Given the description of an element on the screen output the (x, y) to click on. 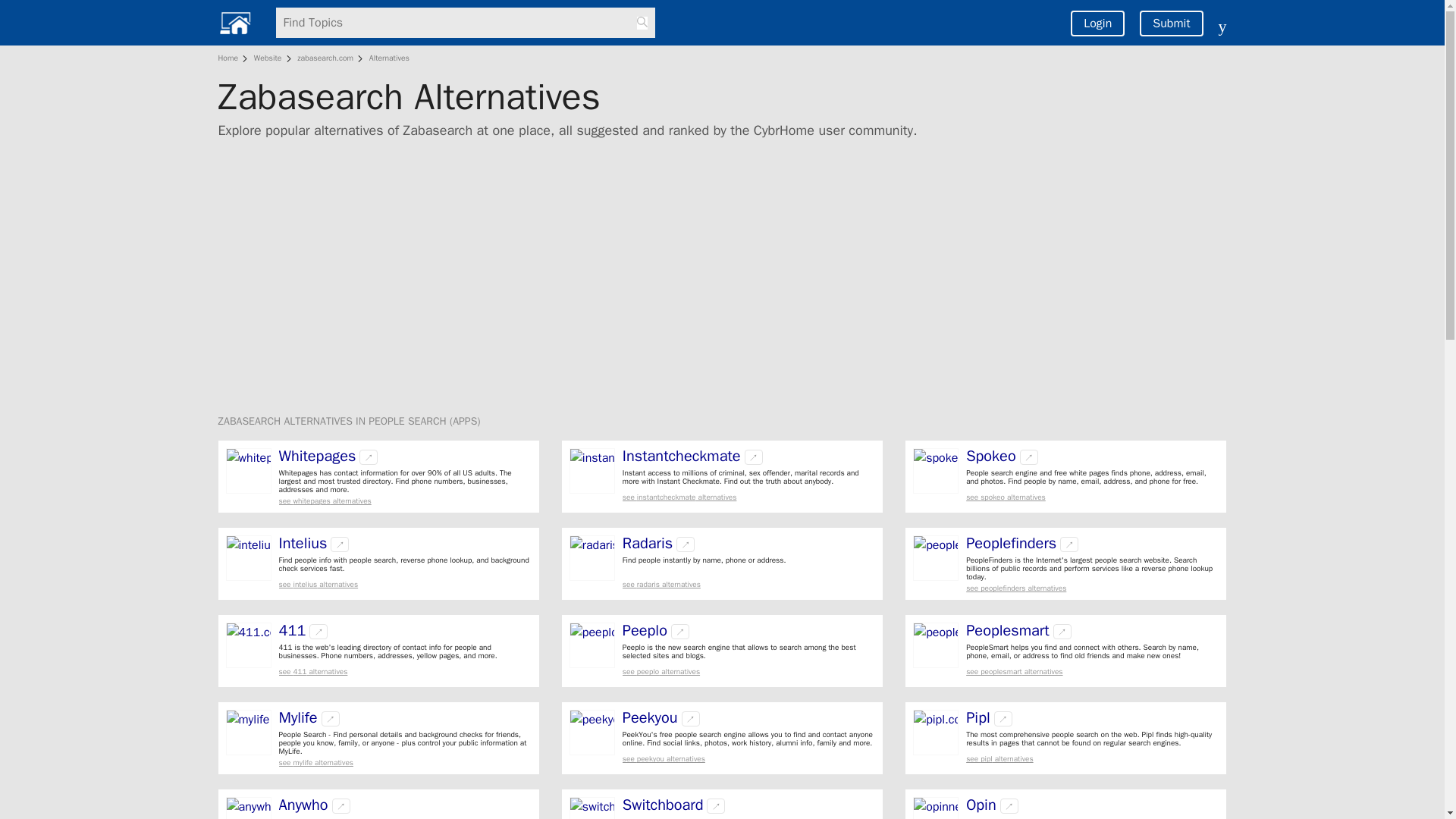
Submit (1171, 23)
zabasearch.com (325, 57)
see peeplo alternatives (749, 671)
see instantcheckmate alternatives (749, 496)
ZABASEARCH (250, 420)
see peoplefinders alternatives (1092, 587)
Whitepages (317, 456)
Intelius (303, 543)
see radaris alternatives (749, 583)
see spokeo alternatives (1092, 496)
see 411 alternatives (405, 671)
Peeplo (644, 630)
Home (230, 57)
411 (292, 630)
